Given the description of an element on the screen output the (x, y) to click on. 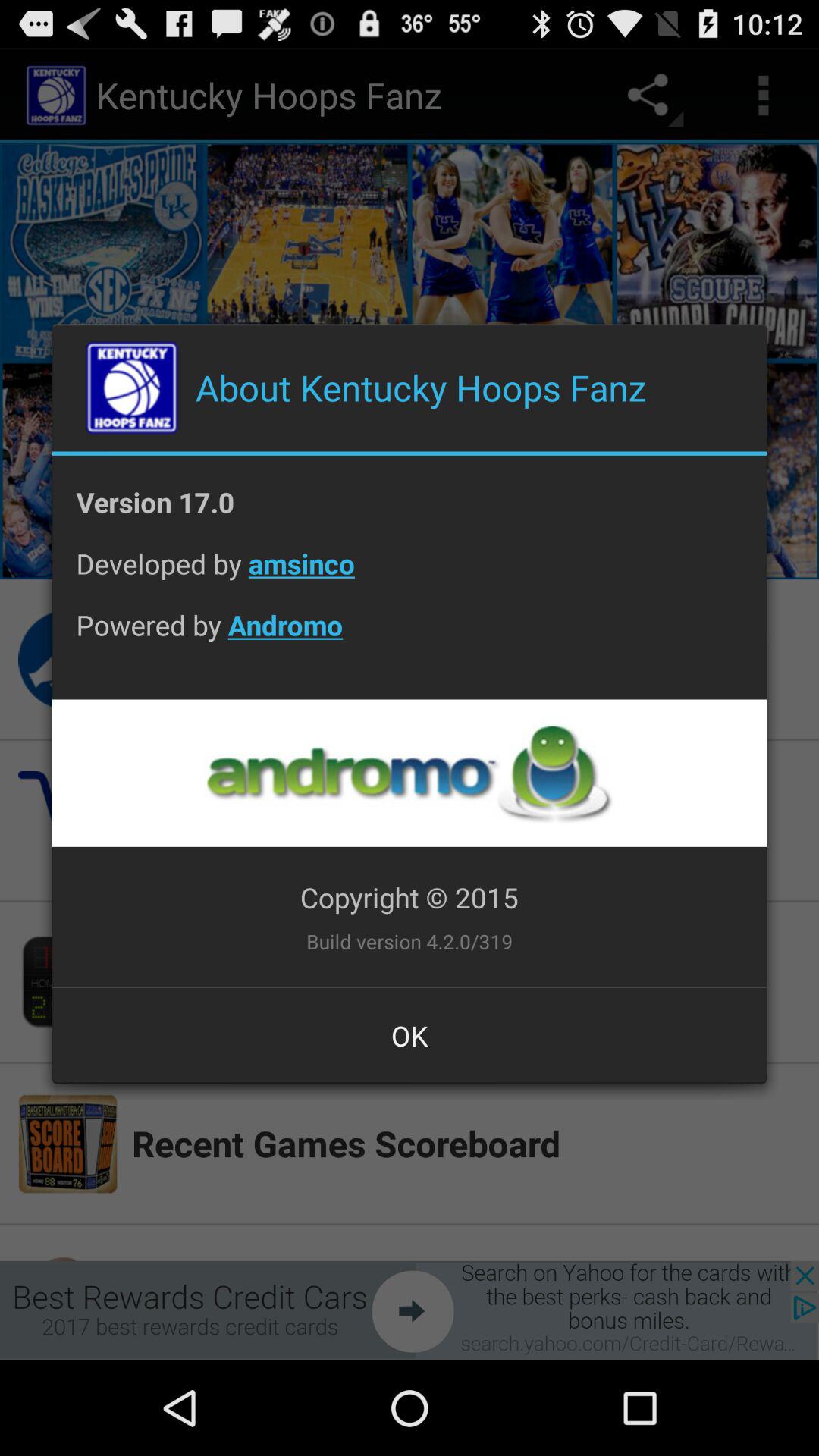
tap the icon below the developed by amsinco app (409, 636)
